Given the description of an element on the screen output the (x, y) to click on. 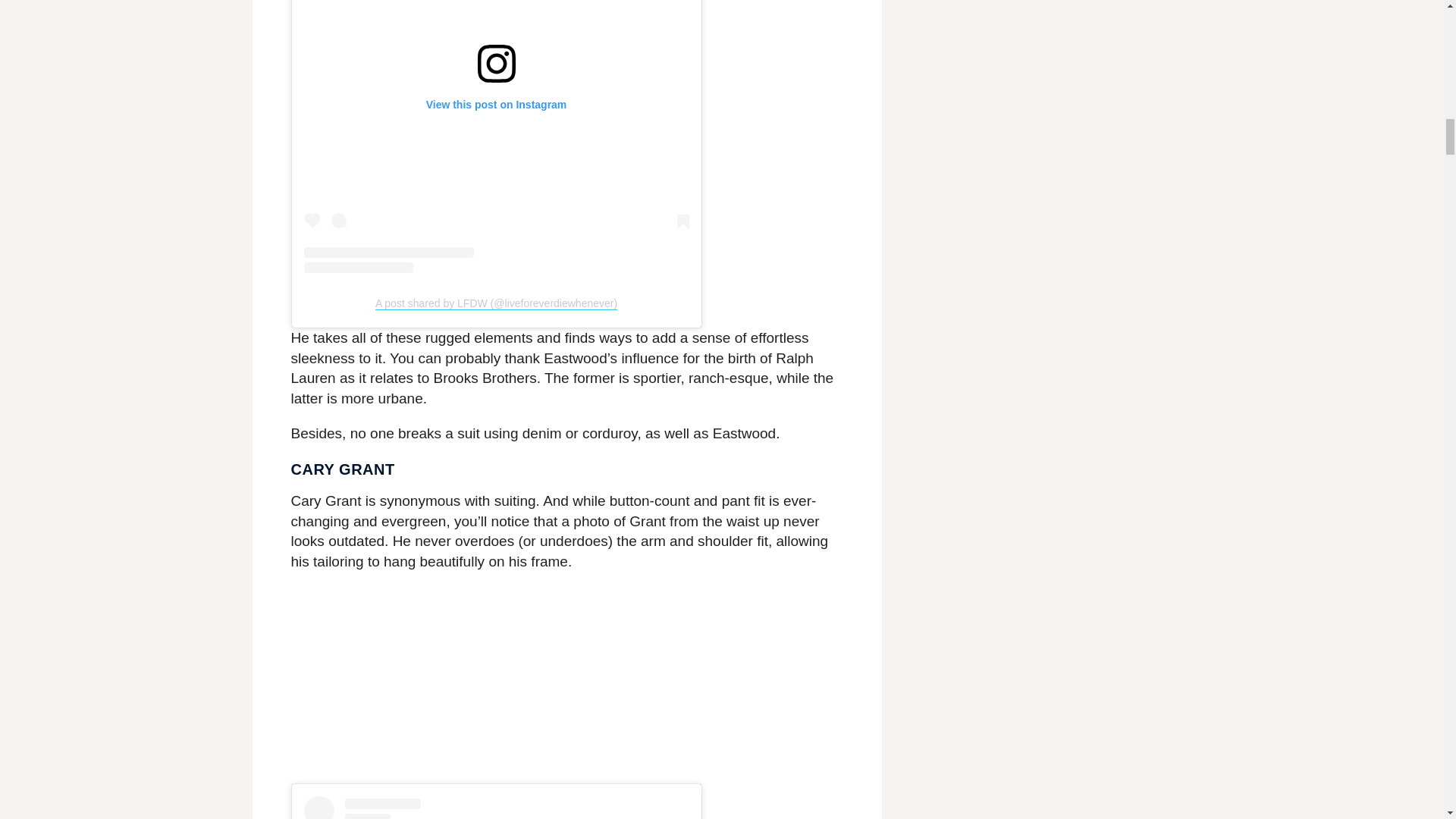
View this post on Instagram (495, 807)
View this post on Instagram (495, 136)
